Given the description of an element on the screen output the (x, y) to click on. 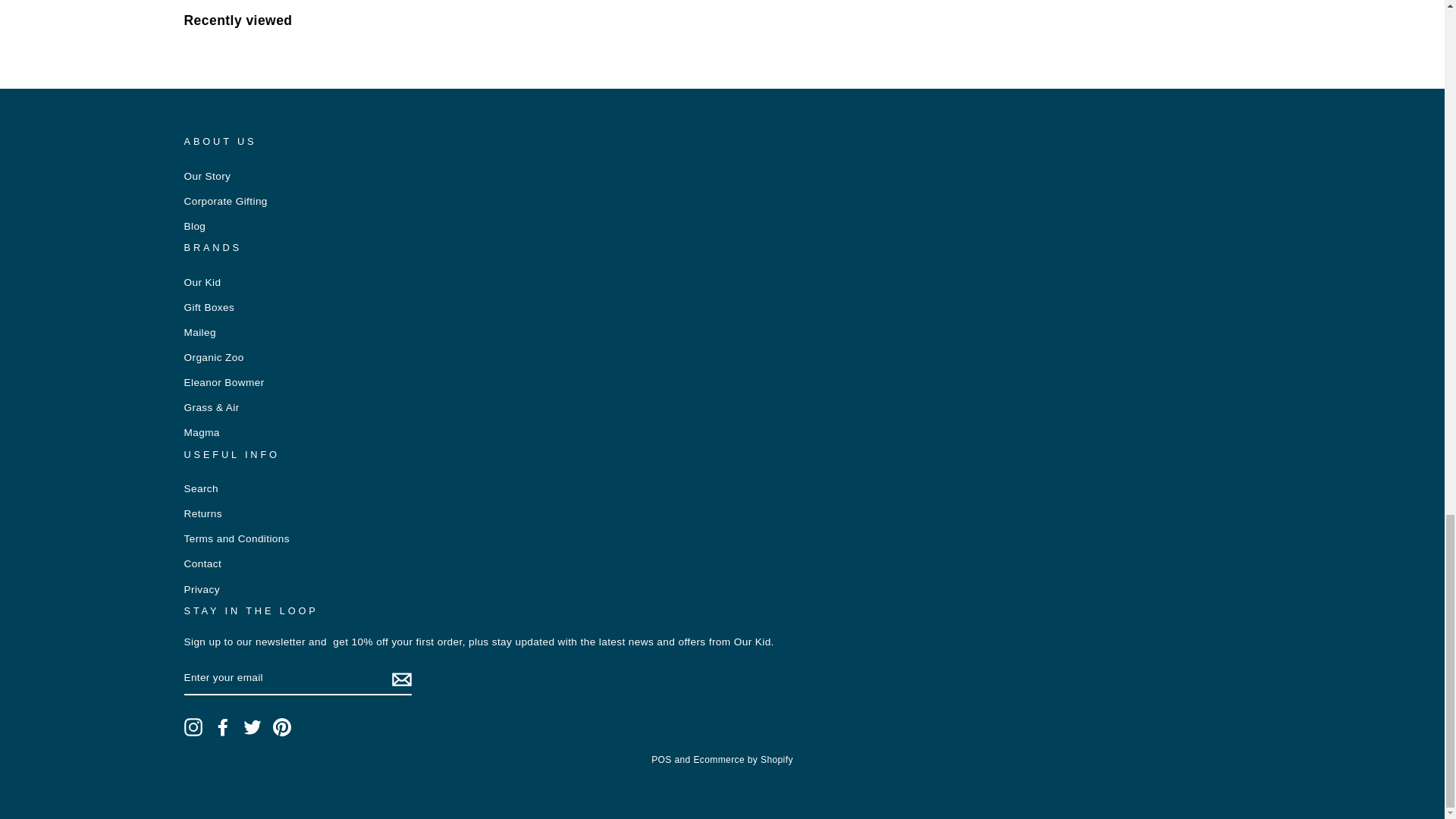
Our Kid on Twitter (251, 727)
Our Kid on Instagram (192, 727)
Our Kid on Facebook (222, 727)
Our Kid on Pinterest (282, 727)
